Given the description of an element on the screen output the (x, y) to click on. 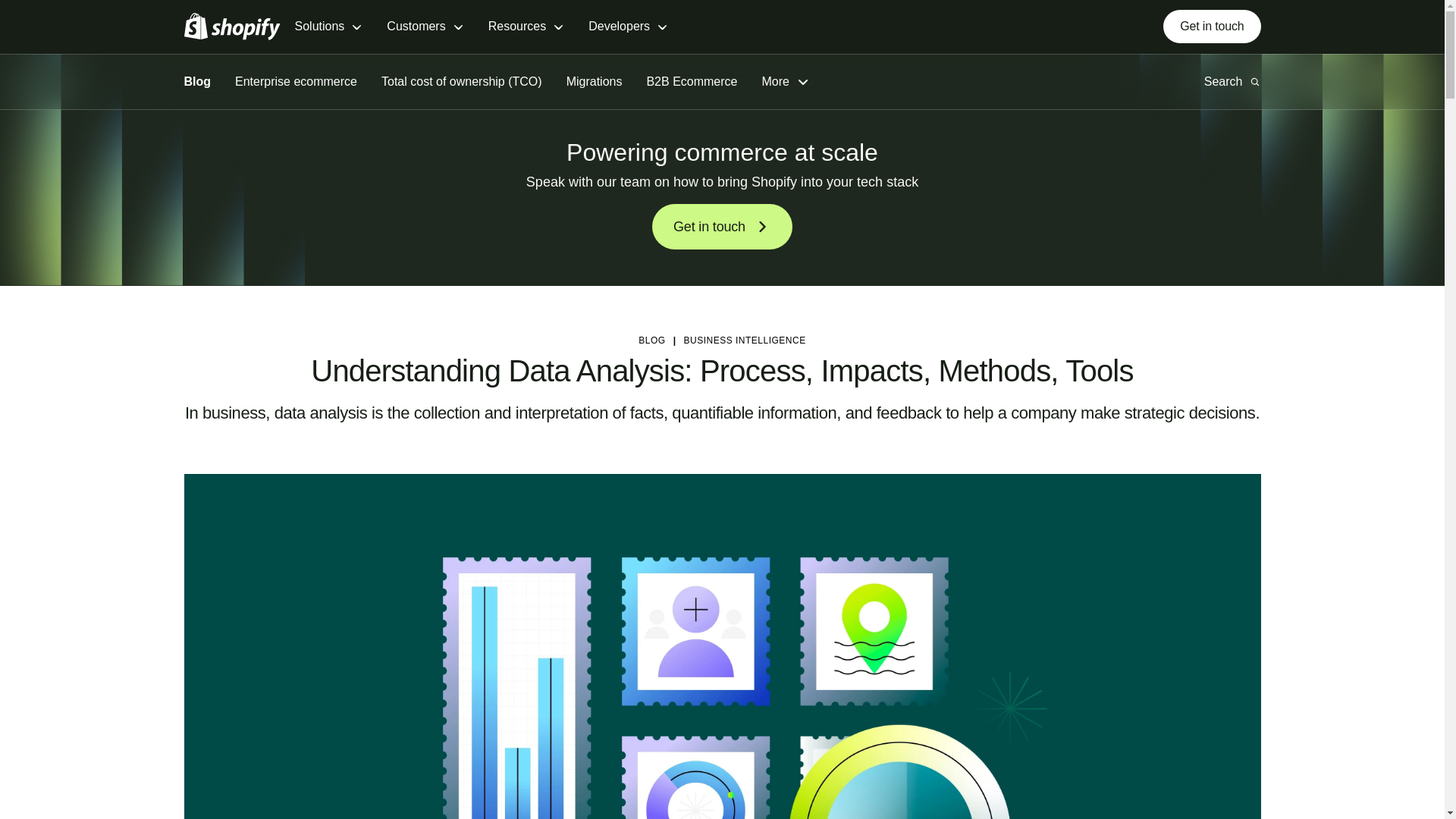
Resources (525, 27)
Developers (628, 27)
Solutions (328, 27)
Customers (425, 27)
